Given the description of an element on the screen output the (x, y) to click on. 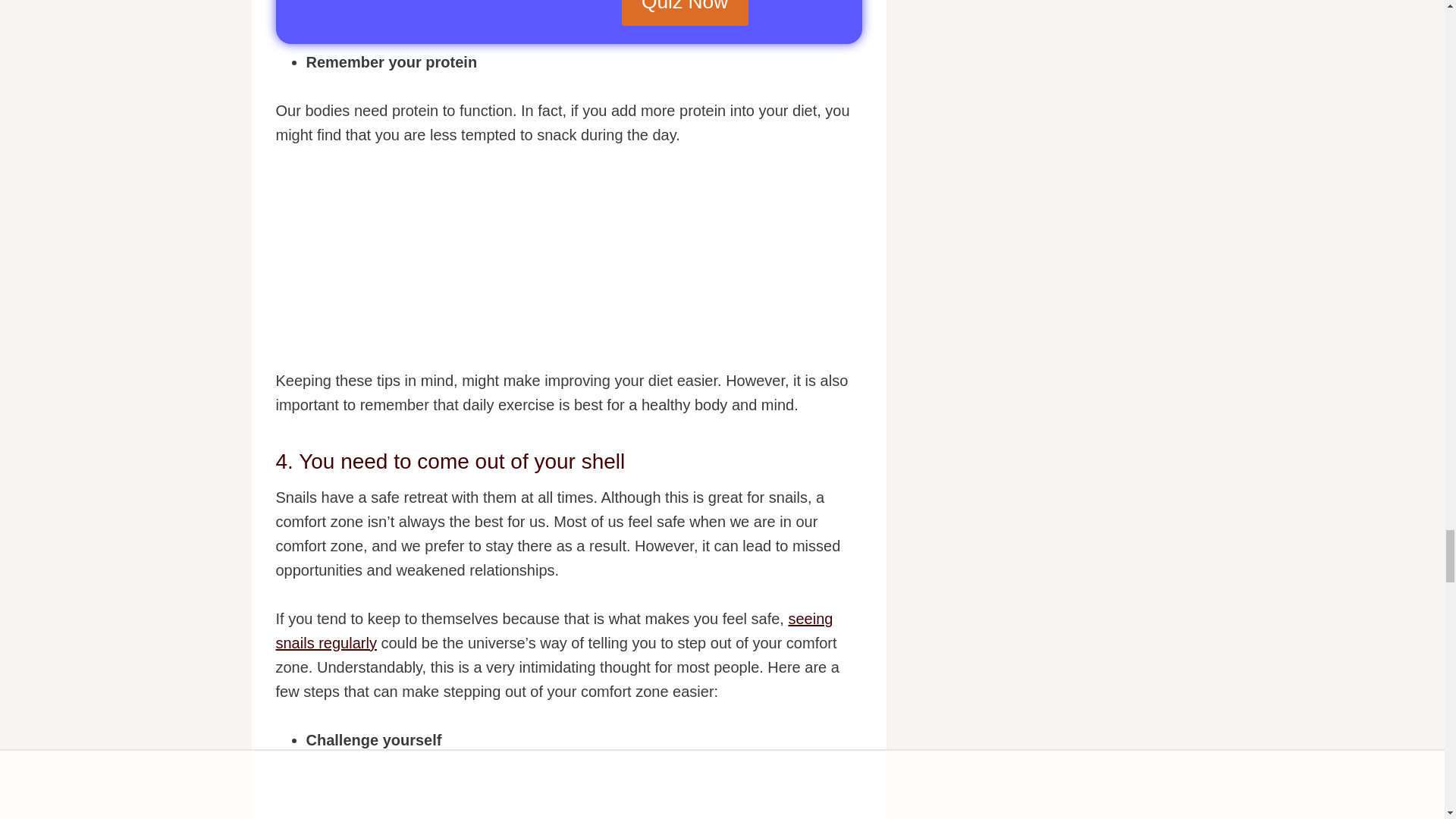
seeing snails regularly (554, 630)
Quiz Now (684, 12)
